Given the description of an element on the screen output the (x, y) to click on. 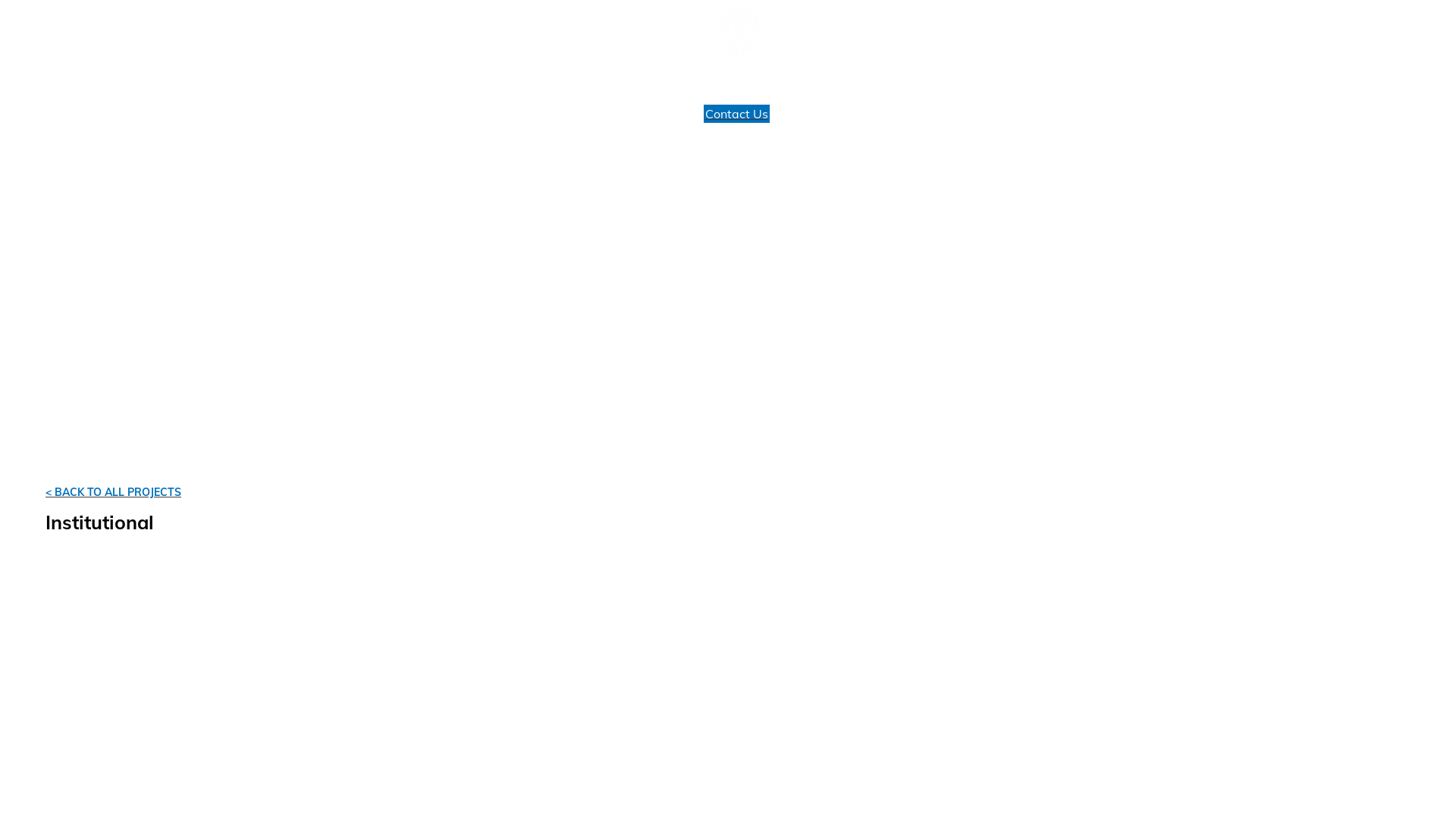
Careers Element type: text (257, 88)
Services Element type: text (63, 88)
< BACK TO ALL PROJECTS Element type: text (105, 490)
About Element type: text (198, 88)
Projects Element type: text (133, 88)
Contact Us Element type: text (736, 113)
